Given the description of an element on the screen output the (x, y) to click on. 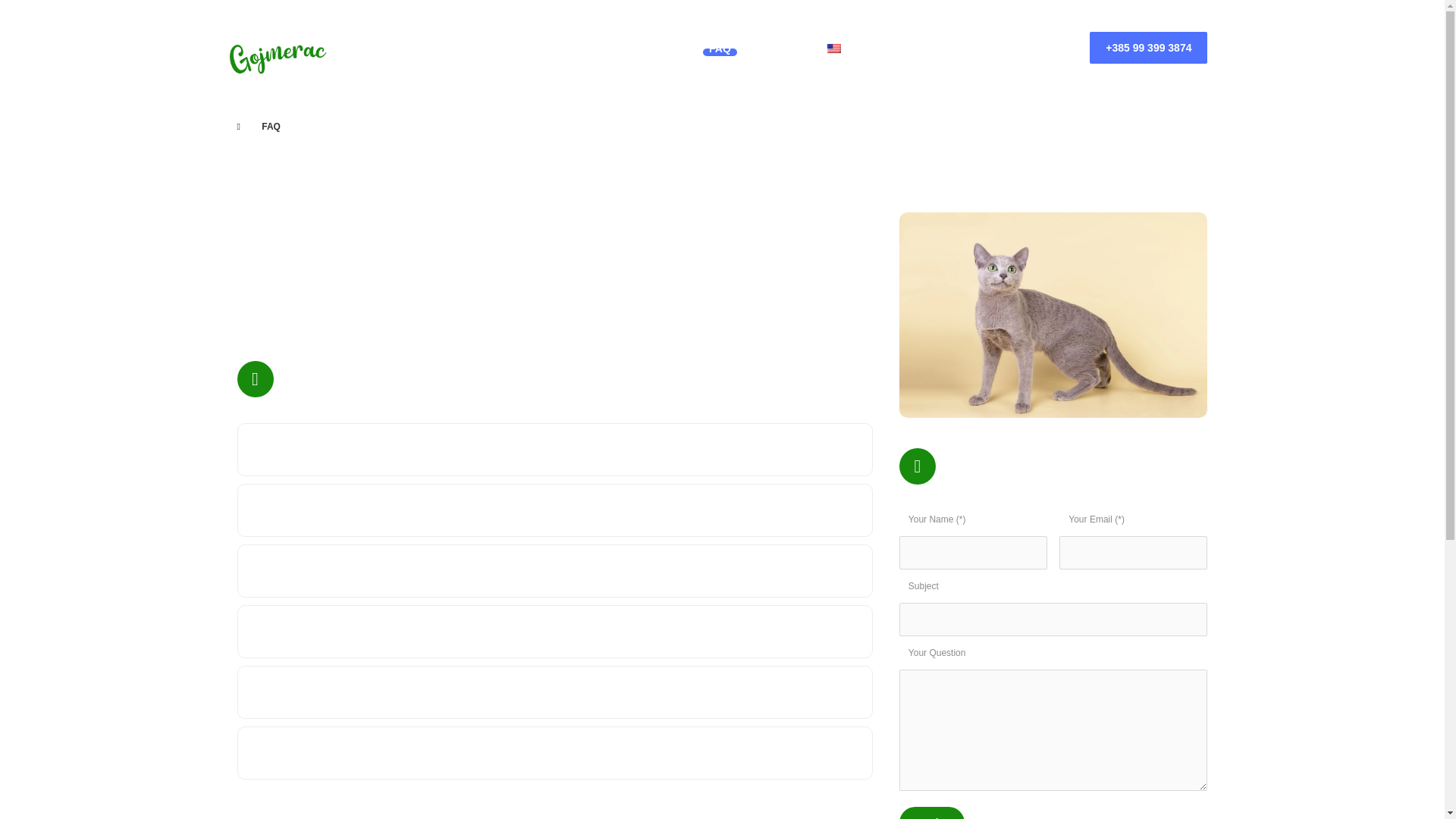
BREED PROFILE (642, 48)
HOME (415, 48)
CONTACT (778, 48)
OUR CATS (480, 48)
Home page (237, 126)
roksi1 (1053, 314)
KITTENS (554, 48)
FAQ (719, 48)
FAQ (271, 126)
EN (850, 48)
Ask (931, 812)
